Given the description of an element on the screen output the (x, y) to click on. 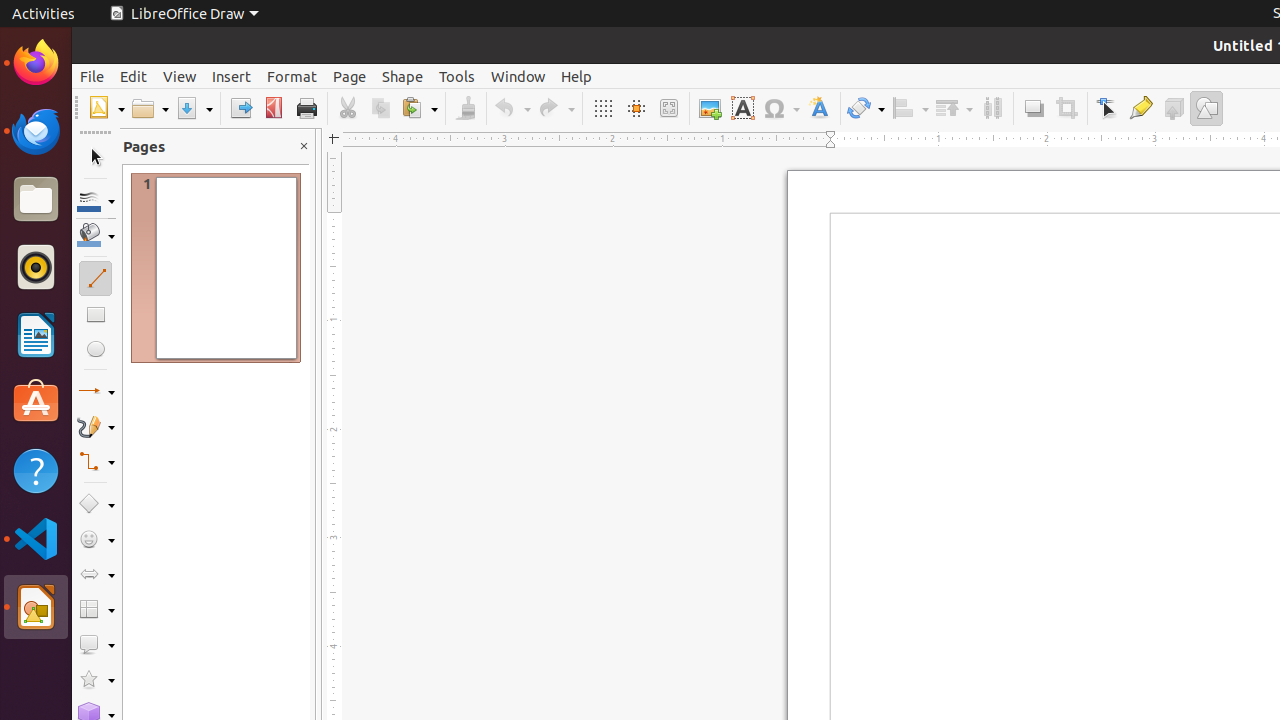
Shape Element type: menu (402, 76)
Arrange Element type: push-button (954, 108)
Distribution Element type: push-button (992, 108)
Undo Element type: push-button (512, 108)
